Given the description of an element on the screen output the (x, y) to click on. 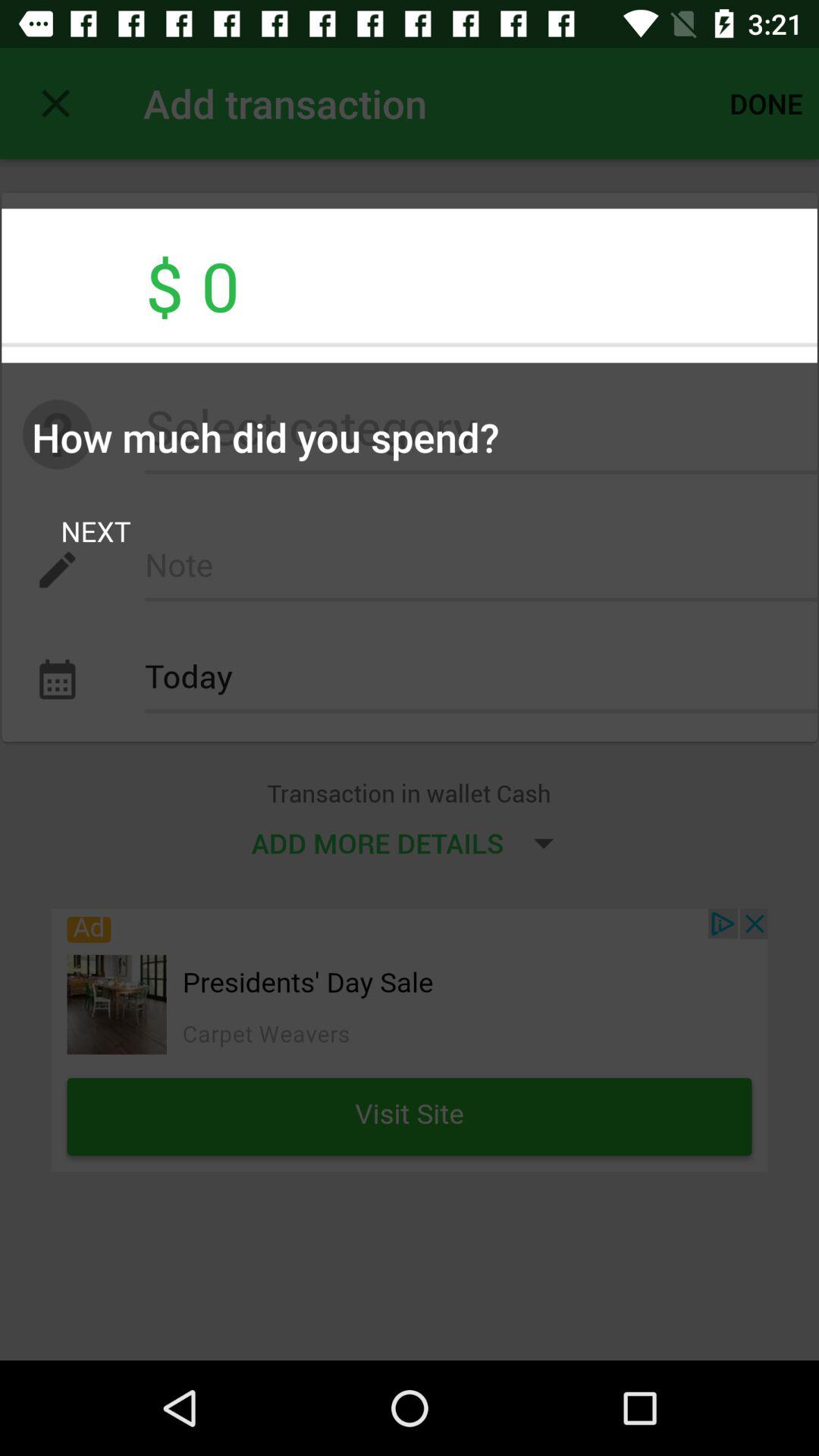
swipe to done item (766, 103)
